Given the description of an element on the screen output the (x, y) to click on. 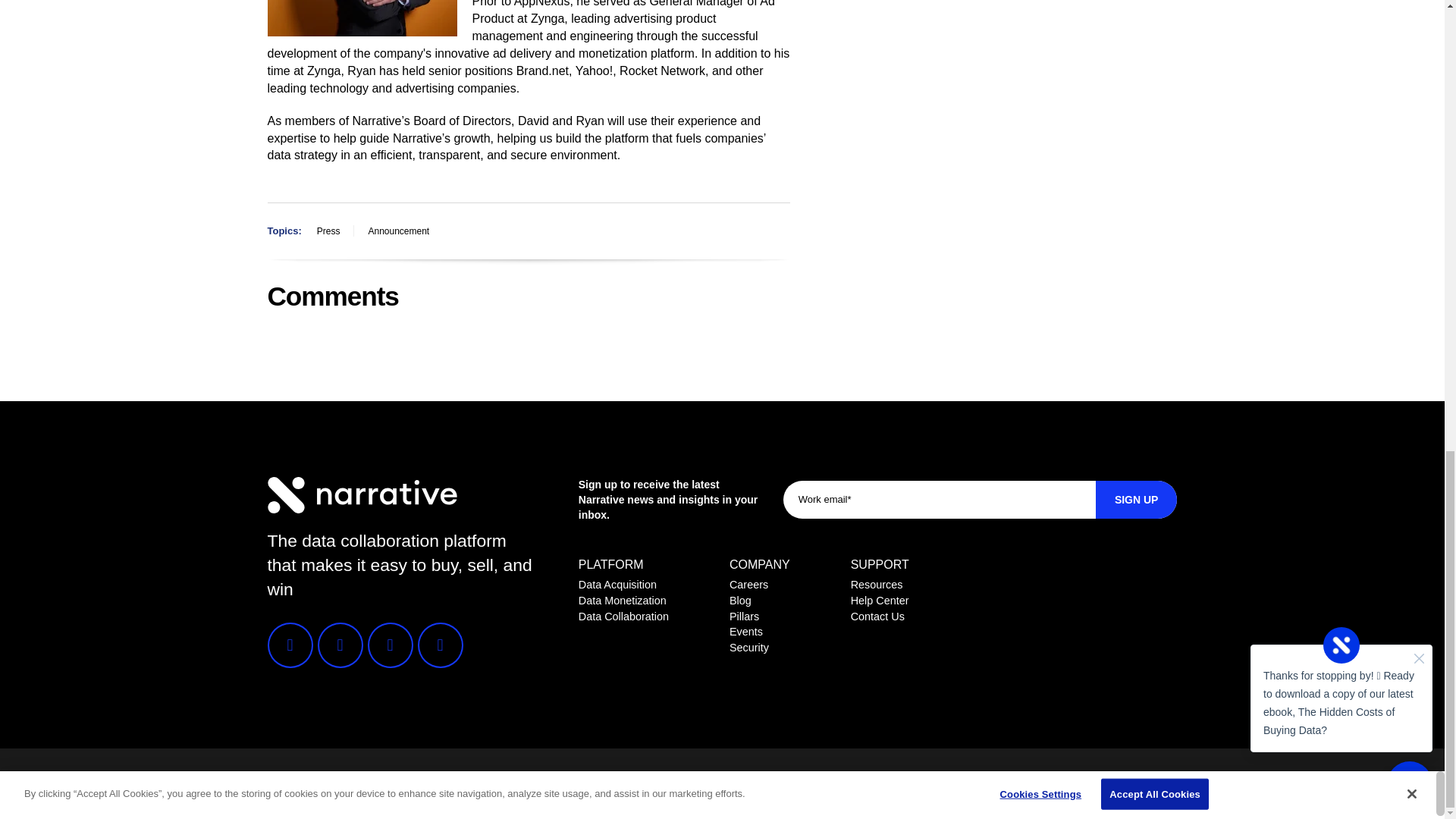
Announcement (397, 230)
Sign up (1136, 499)
Press (327, 230)
Narrative logo (361, 494)
